Given the description of an element on the screen output the (x, y) to click on. 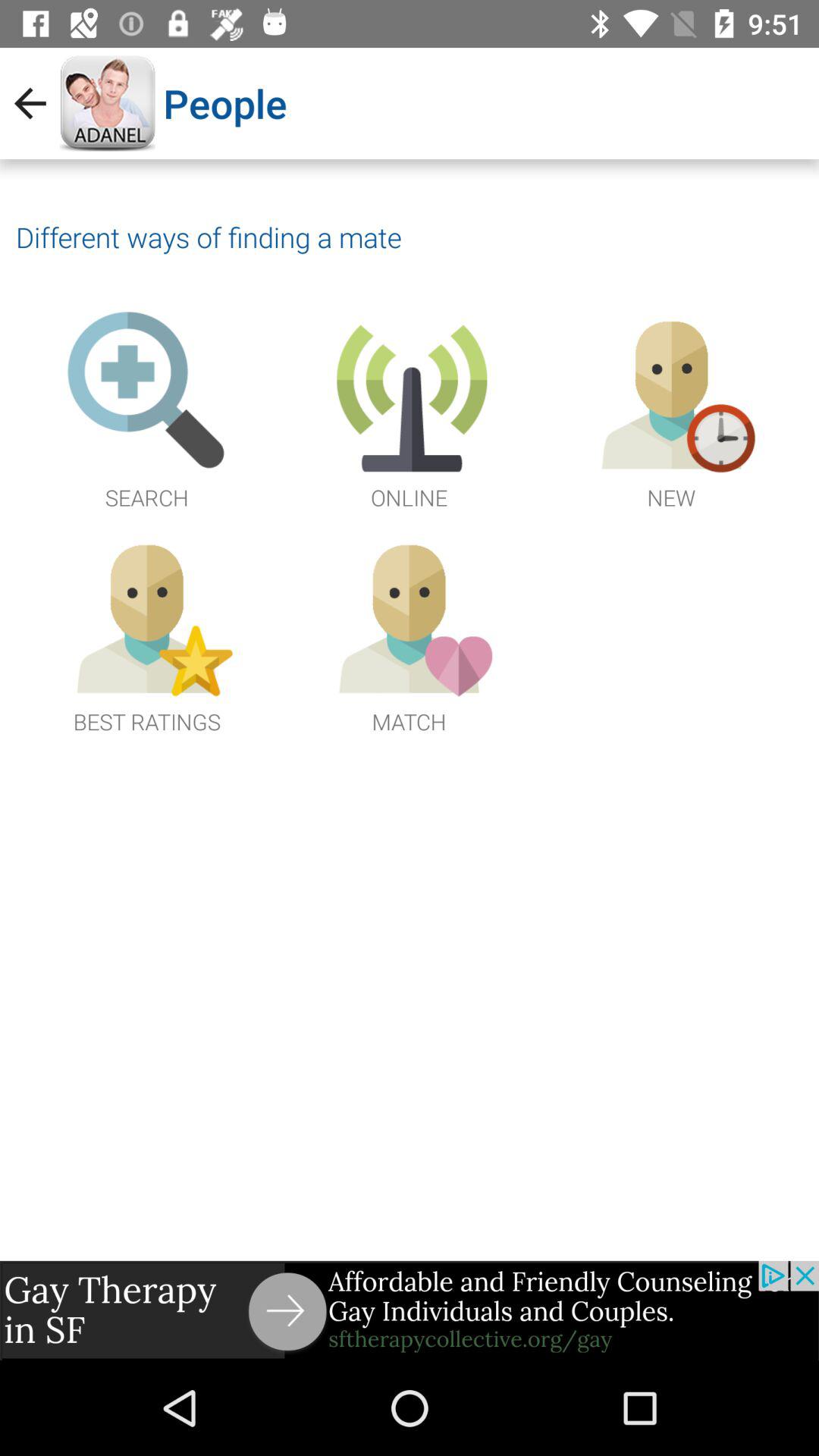
open rating (146, 634)
